Given the description of an element on the screen output the (x, y) to click on. 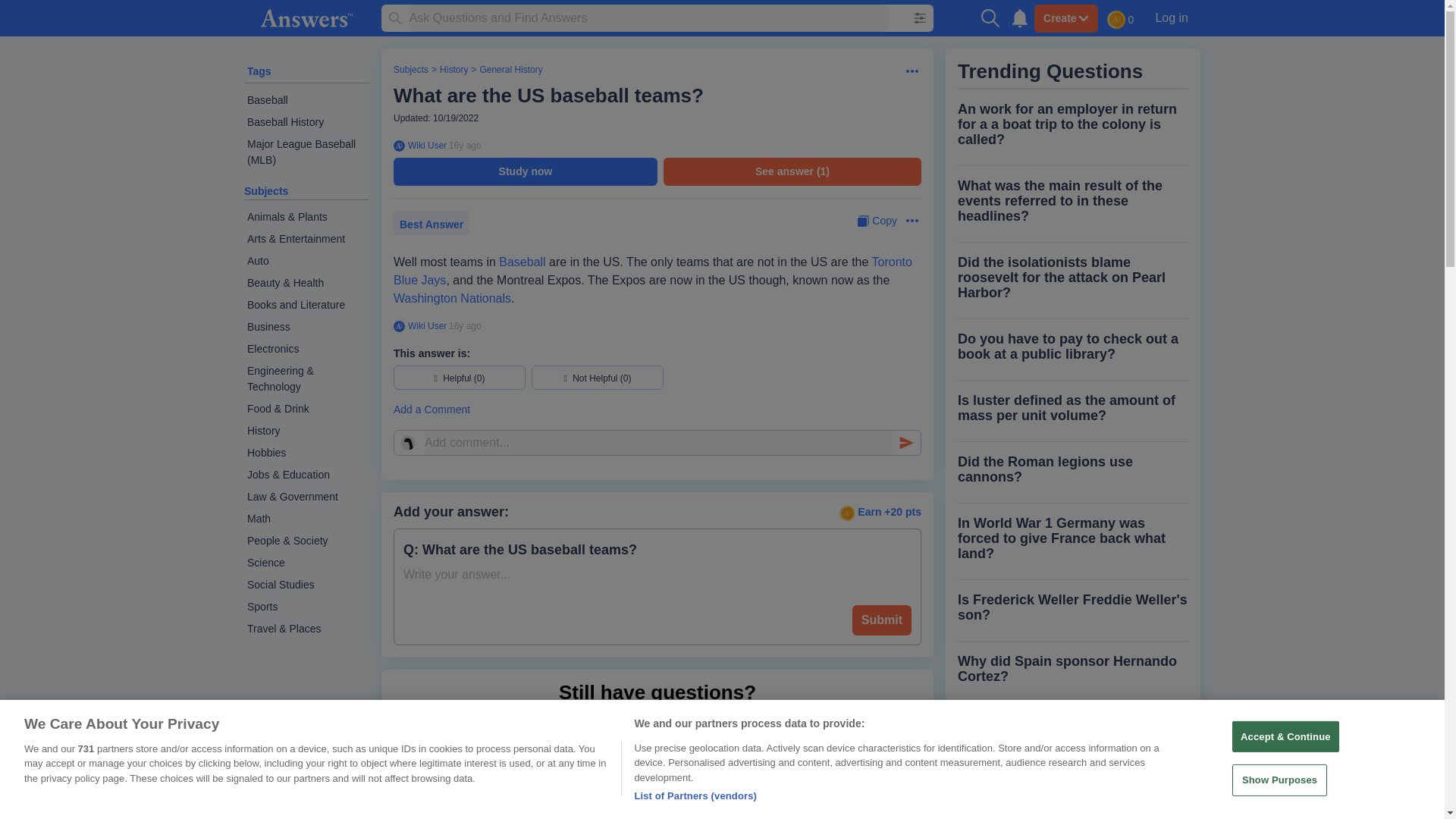
Copy (876, 220)
Washington Nationals (452, 297)
Create (1065, 18)
Auto (306, 260)
Electronics (306, 349)
Social Studies (306, 585)
Hobbies (306, 453)
Baseball History (306, 122)
2007-09-02 06:12:26 (464, 326)
What are the US baseball teams? (548, 95)
Log in (1170, 17)
Toronto Blue Jays (652, 270)
History (306, 431)
Books and Literature (306, 305)
Baseball (521, 261)
